Given the description of an element on the screen output the (x, y) to click on. 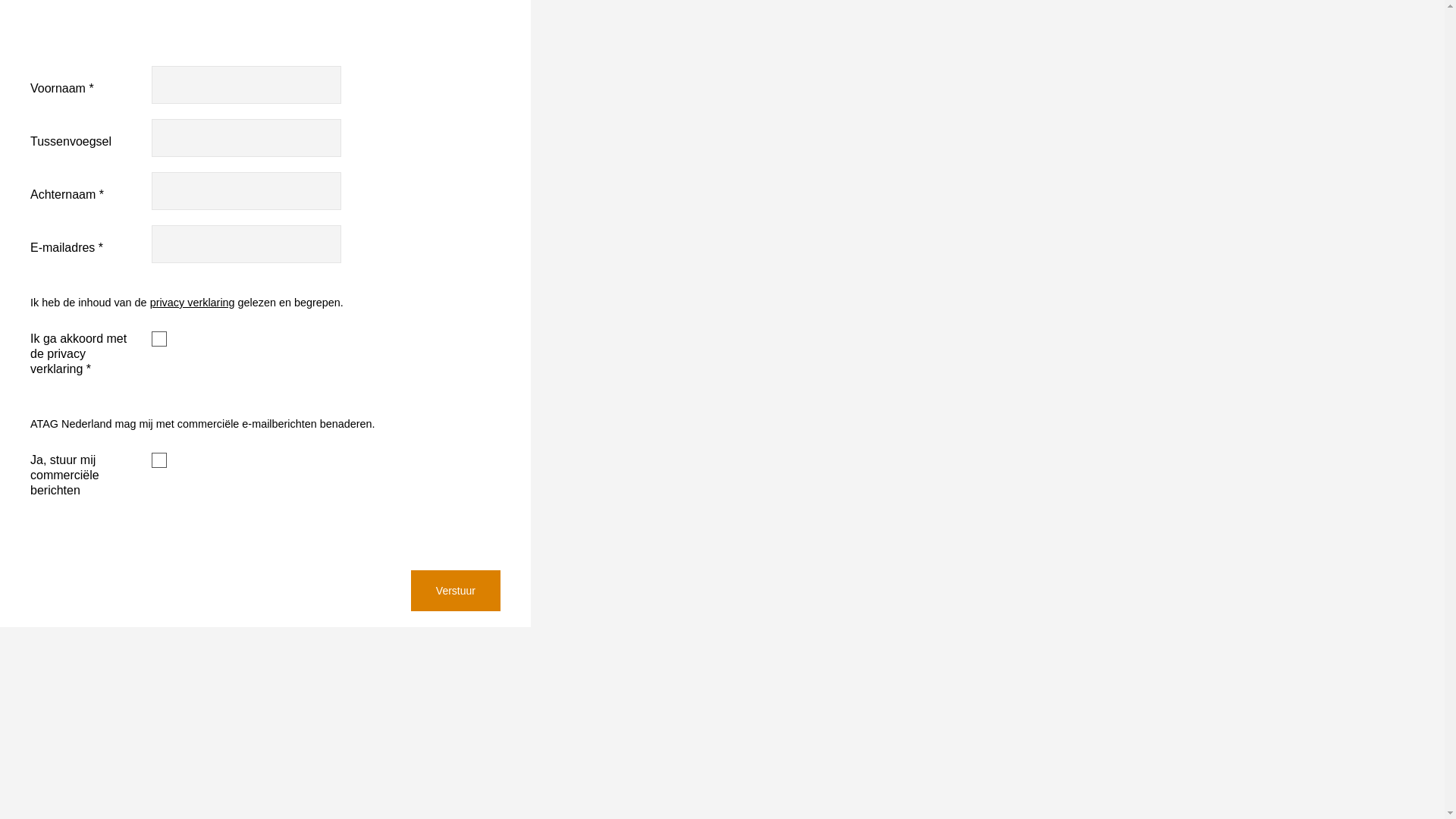
privacy verklaring Element type: text (192, 302)
Verstuur Element type: text (455, 590)
